Given the description of an element on the screen output the (x, y) to click on. 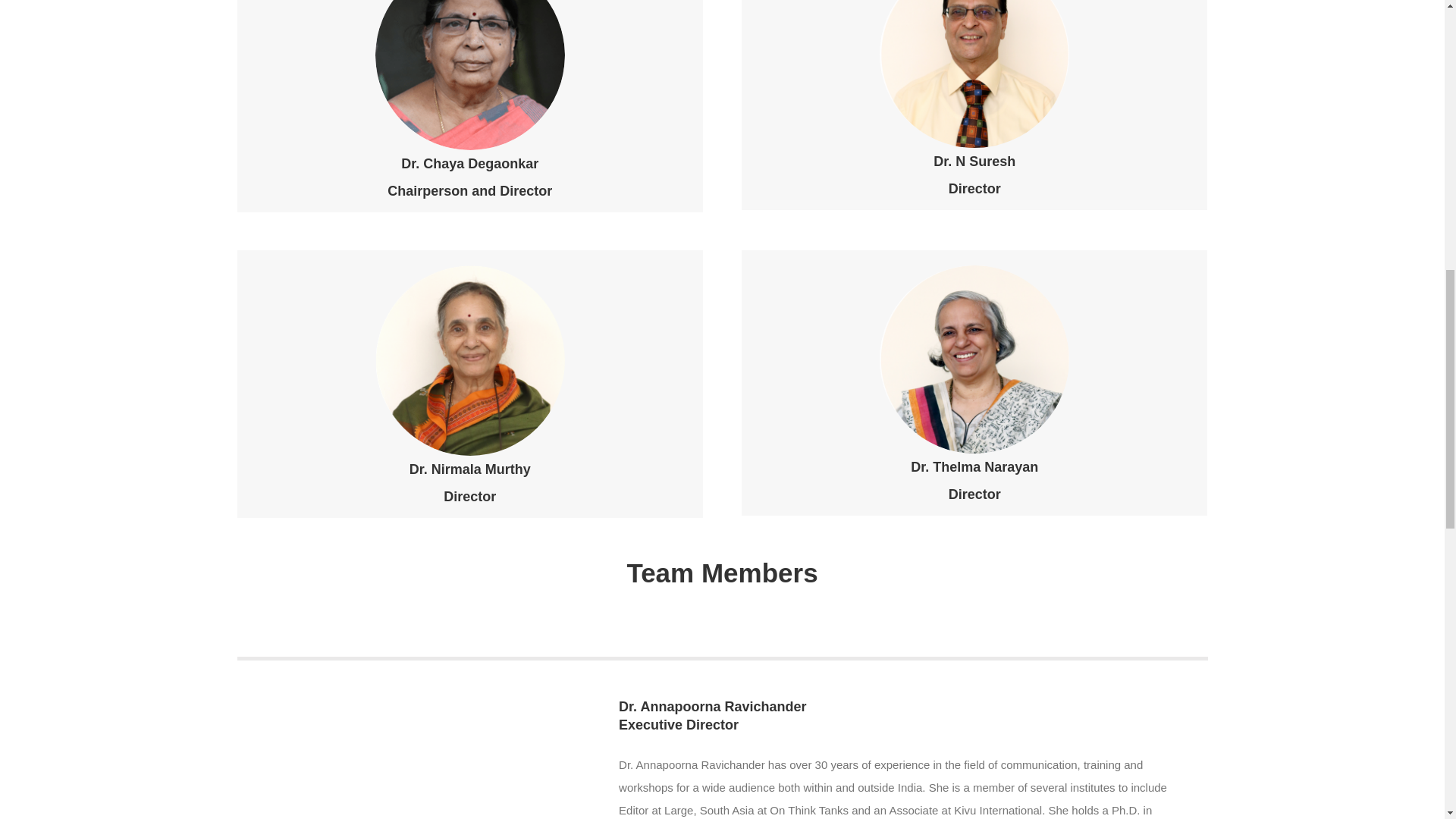
Dr. Annapoorna (397, 743)
Team Members (721, 606)
